Given the description of an element on the screen output the (x, y) to click on. 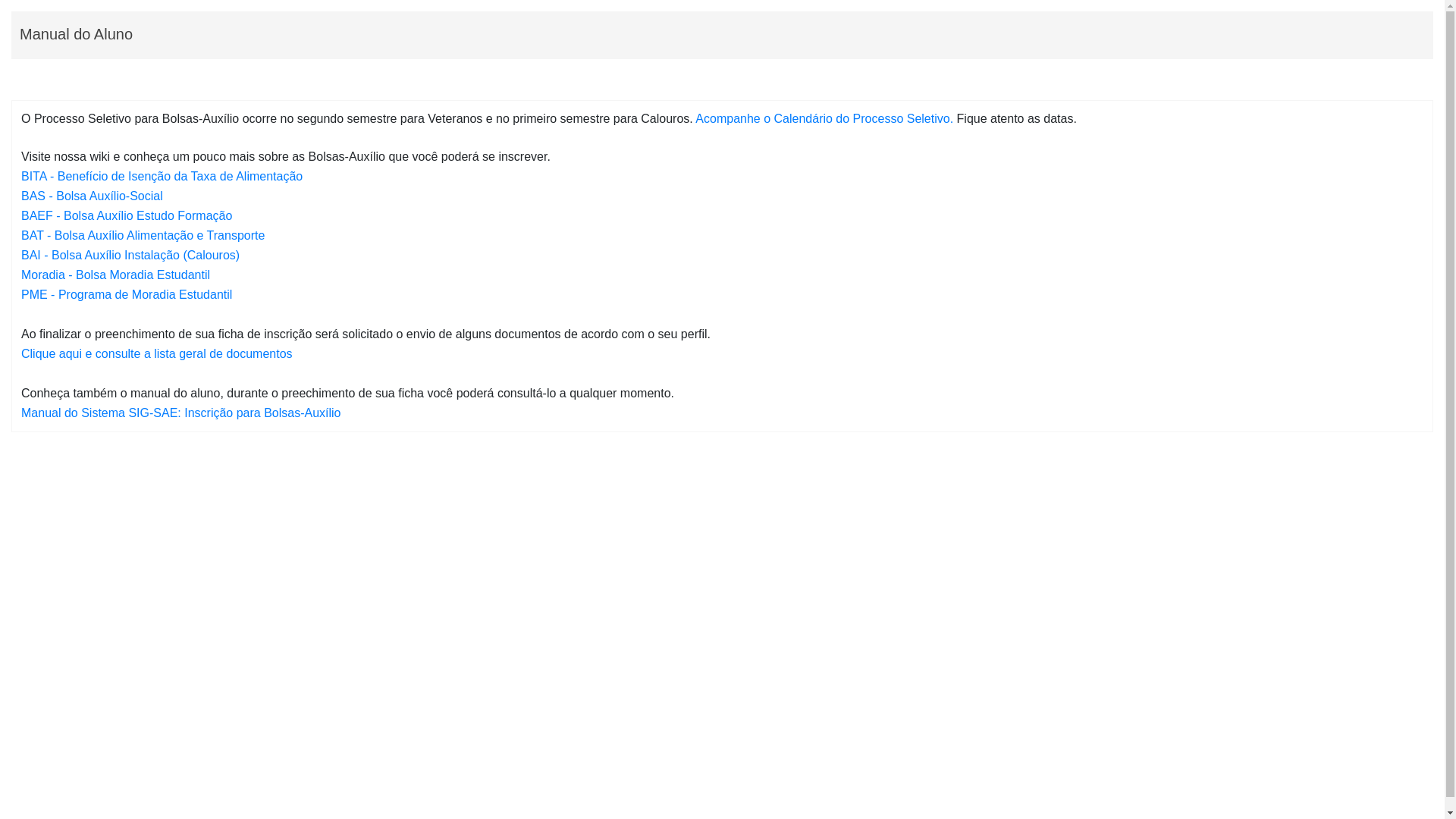
Moradia - Bolsa Moradia Estudantil Element type: text (115, 274)
Clique aqui e consulte a lista geral de documentos Element type: text (156, 353)
PME - Programa de Moradia Estudantil Element type: text (126, 294)
